Given the description of an element on the screen output the (x, y) to click on. 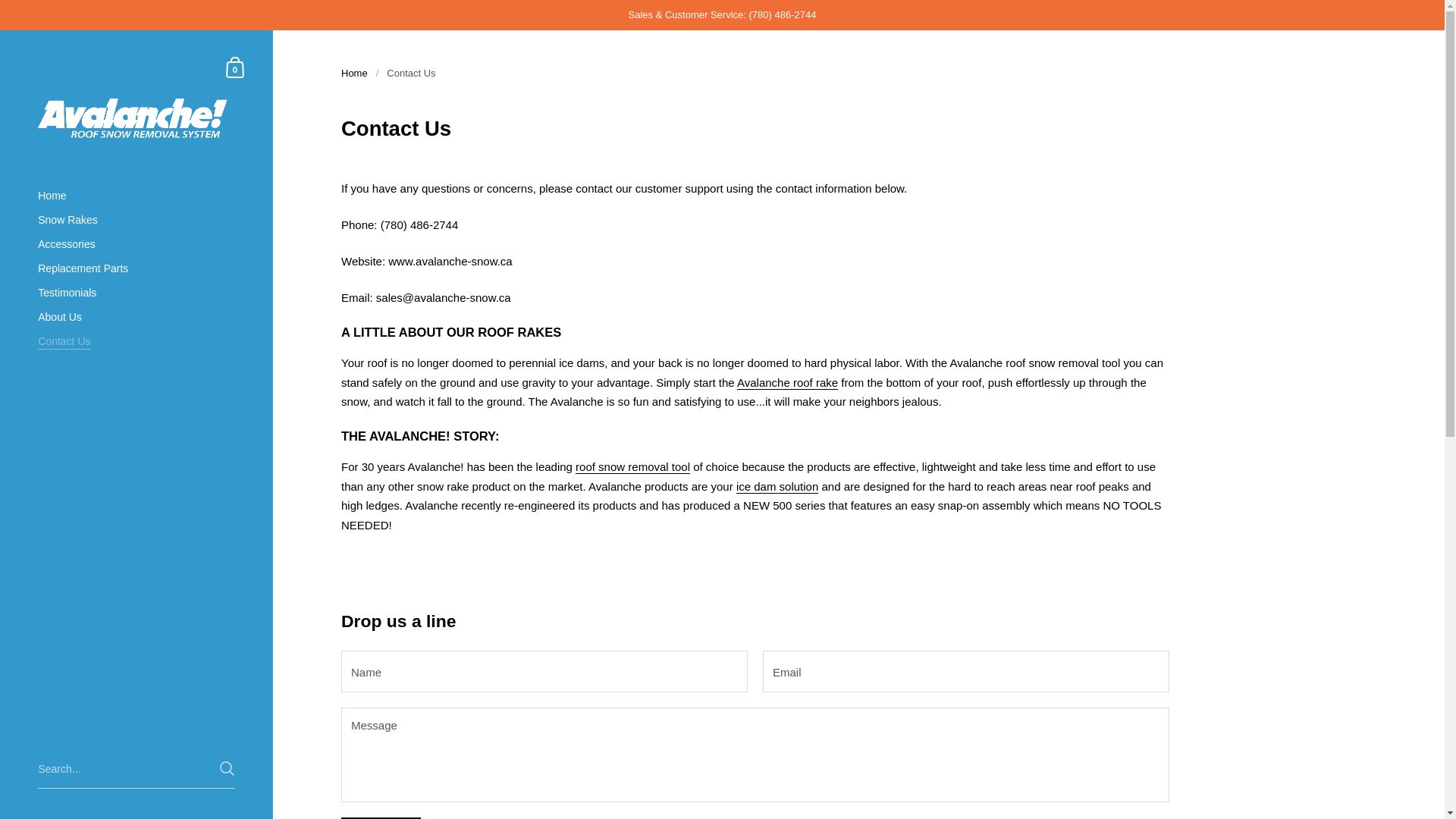
Snow Rakes (136, 219)
Replacement Parts (136, 268)
About Us (136, 316)
roof snow removal tool (632, 467)
Avalanche roof rake (787, 382)
Accessories (136, 243)
Home (136, 195)
ice dam solution (777, 486)
Home (354, 72)
Testimonials (136, 292)
Contact Us (235, 66)
Shopping Cart (136, 340)
Skip to content (235, 66)
